Given the description of an element on the screen output the (x, y) to click on. 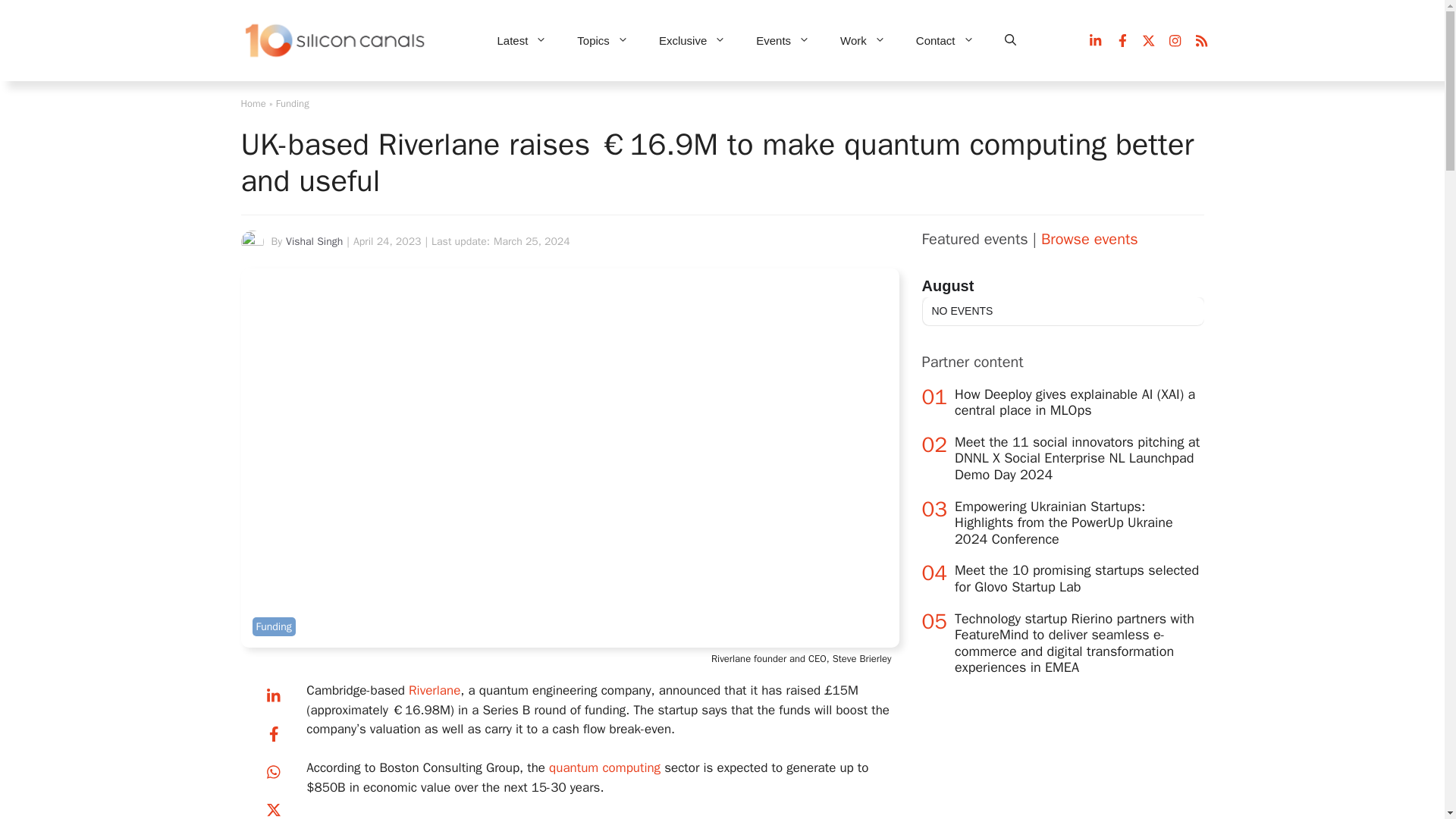
Exclusive (692, 40)
Latest (521, 40)
Topics (602, 40)
SC 10 year horizontal (335, 40)
Events (783, 40)
Work (863, 40)
